Given the description of an element on the screen output the (x, y) to click on. 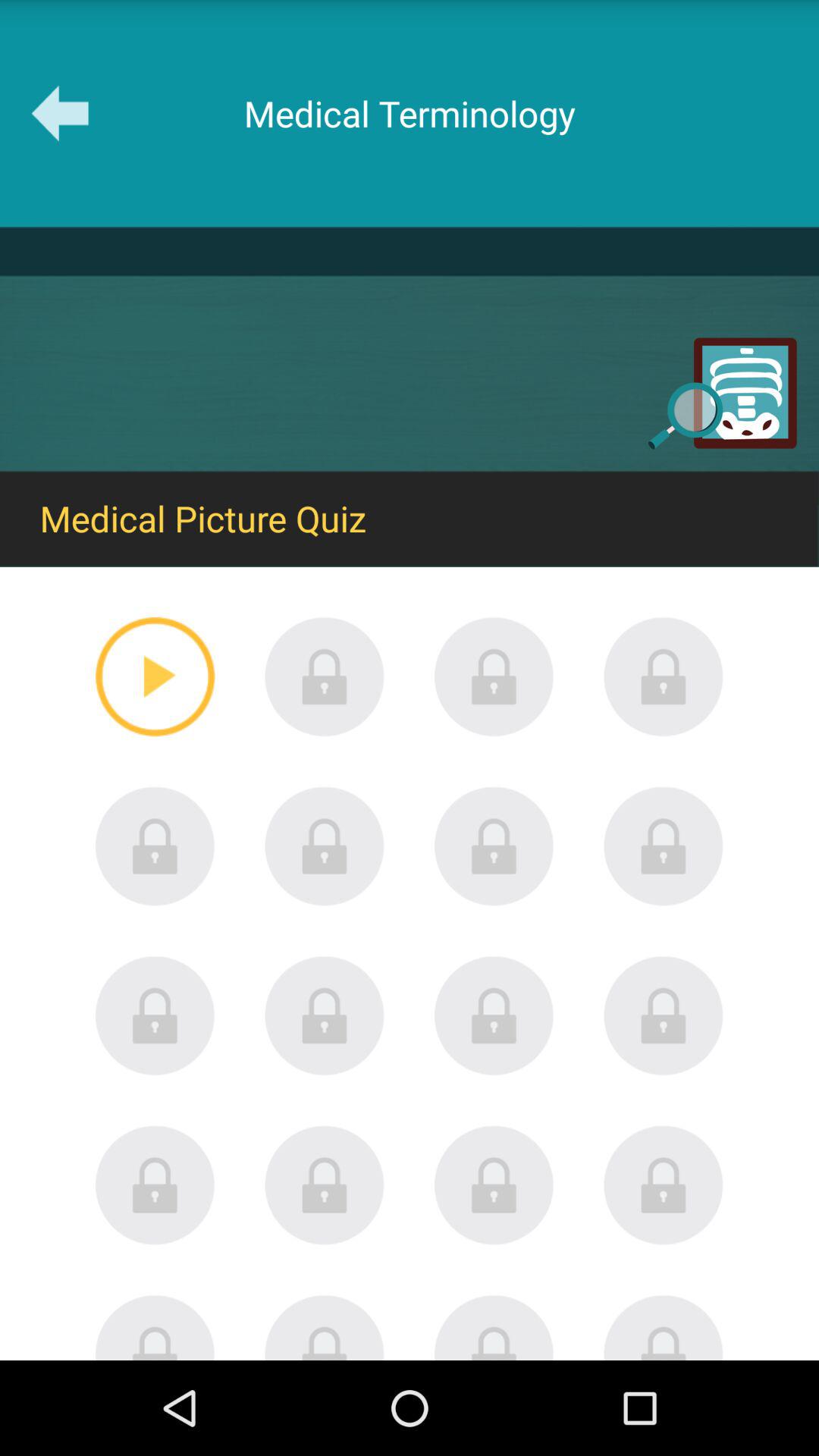
unlock quiz (663, 1327)
